Given the description of an element on the screen output the (x, y) to click on. 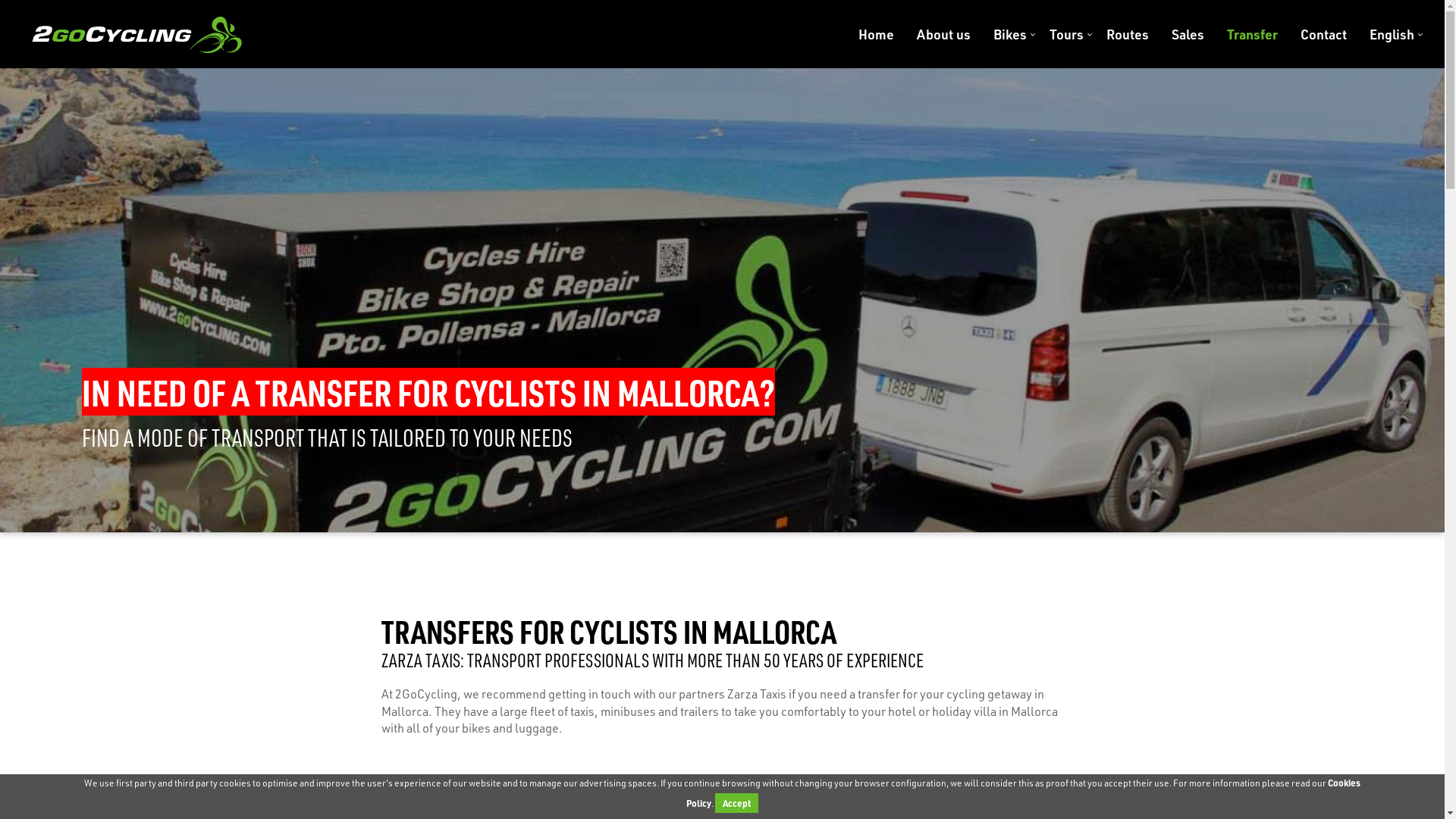
Sales Element type: text (1187, 33)
Contact Element type: text (1323, 33)
Tours Element type: text (1066, 33)
Home Element type: text (876, 33)
Cookies Policy Element type: text (1023, 792)
About us Element type: text (943, 33)
English Element type: text (1386, 33)
Routes Element type: text (1127, 33)
Accept Element type: text (736, 802)
Bikes Element type: text (1010, 33)
Home Element type: text (136, 33)
Transfer Element type: text (1252, 33)
